Given the description of an element on the screen output the (x, y) to click on. 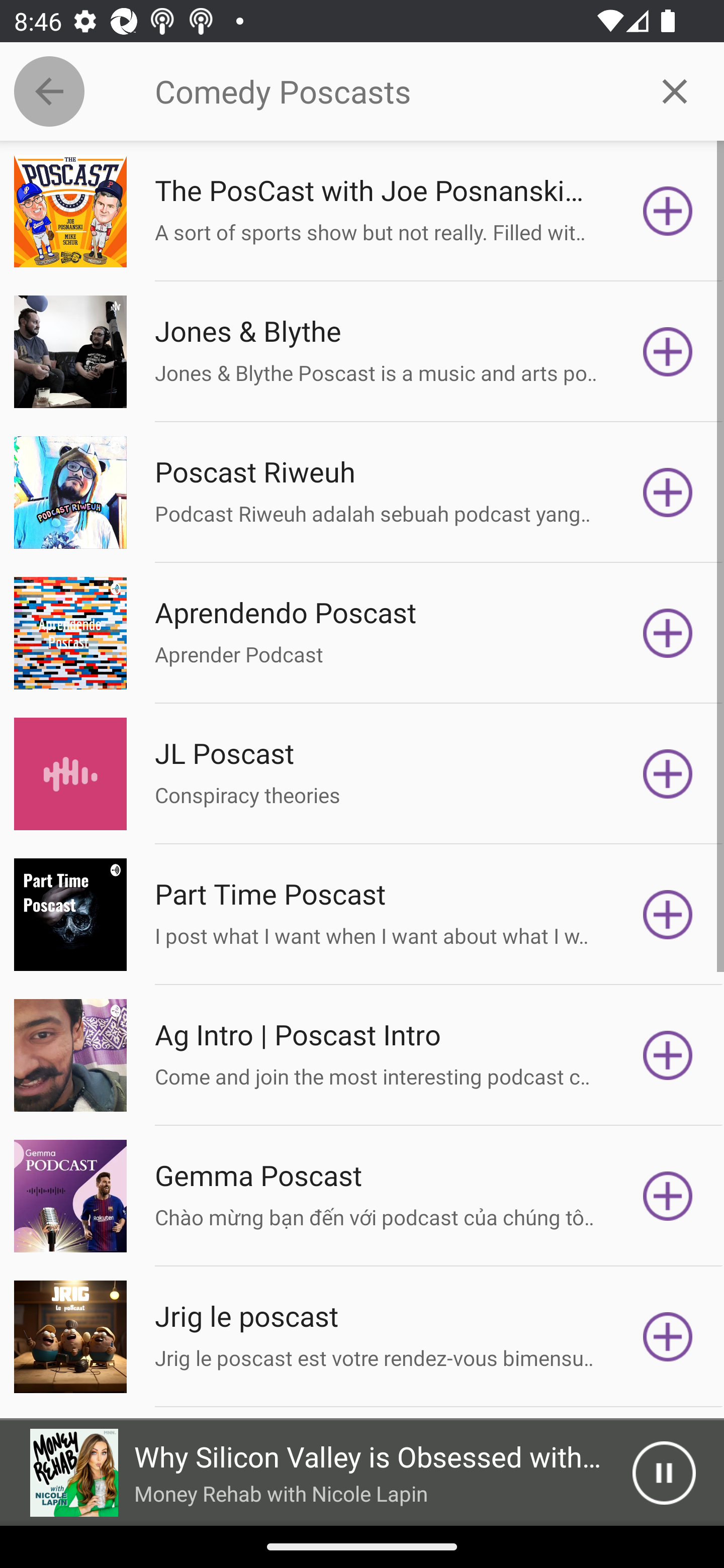
Collapse (49, 91)
Clear query (674, 90)
Comedy Poscasts (389, 91)
Subscribe (667, 211)
Subscribe (667, 350)
Subscribe (667, 491)
Subscribe (667, 633)
Picture JL Poscast Conspiracy theories Subscribe (362, 773)
Subscribe (667, 773)
Subscribe (667, 913)
Subscribe (667, 1054)
Subscribe (667, 1195)
Subscribe (667, 1336)
Pause (663, 1472)
